Given the description of an element on the screen output the (x, y) to click on. 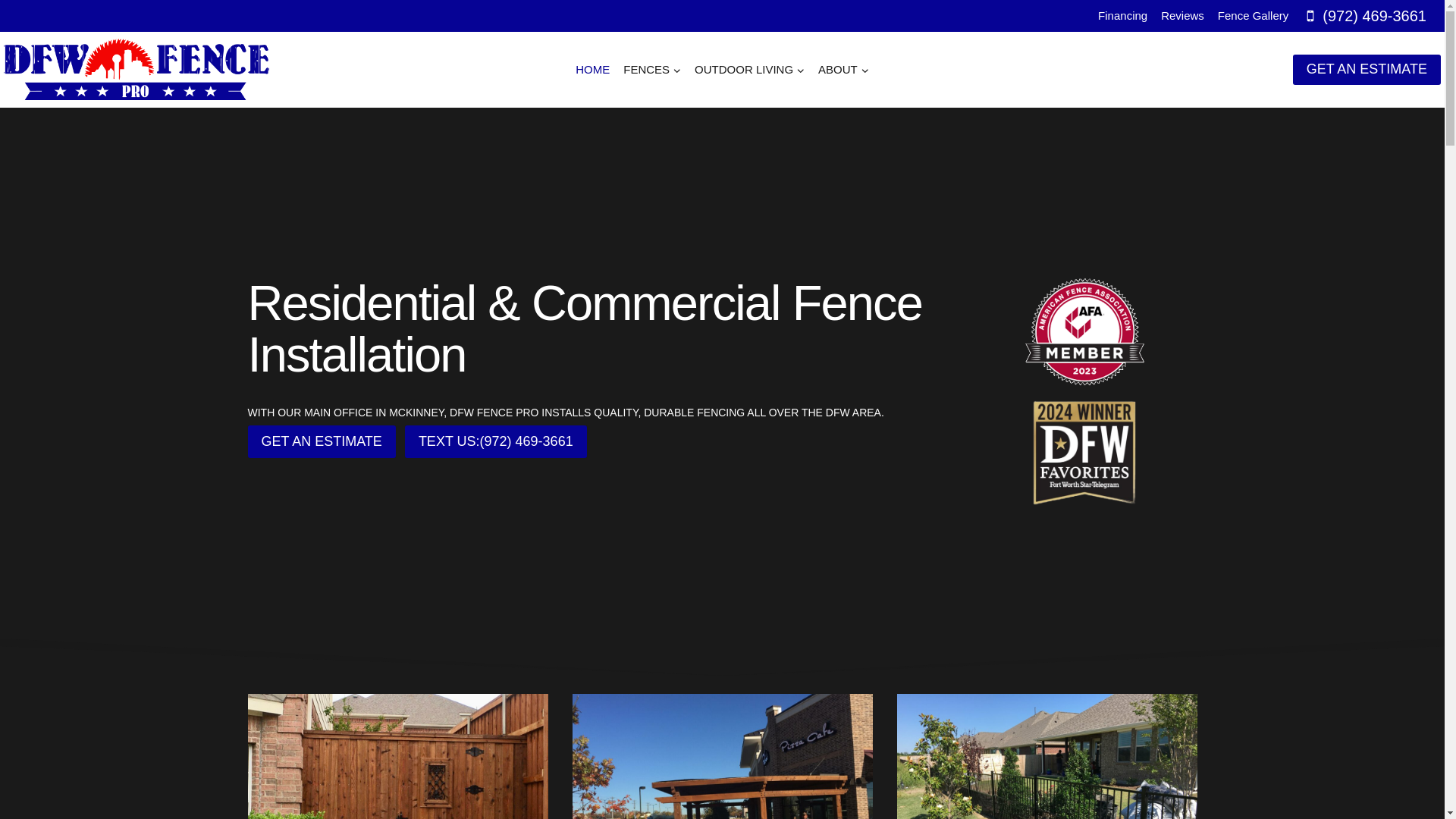
Financing (1122, 15)
Residential Fence Installation (397, 756)
ABOUT (843, 69)
Reviews (1182, 15)
Commercial Fence Company (722, 756)
Fence Gallery (1253, 15)
GET AN ESTIMATE (320, 441)
OUTDOOR LIVING (748, 69)
FENCES (651, 69)
HOME (592, 69)
